Given the description of an element on the screen output the (x, y) to click on. 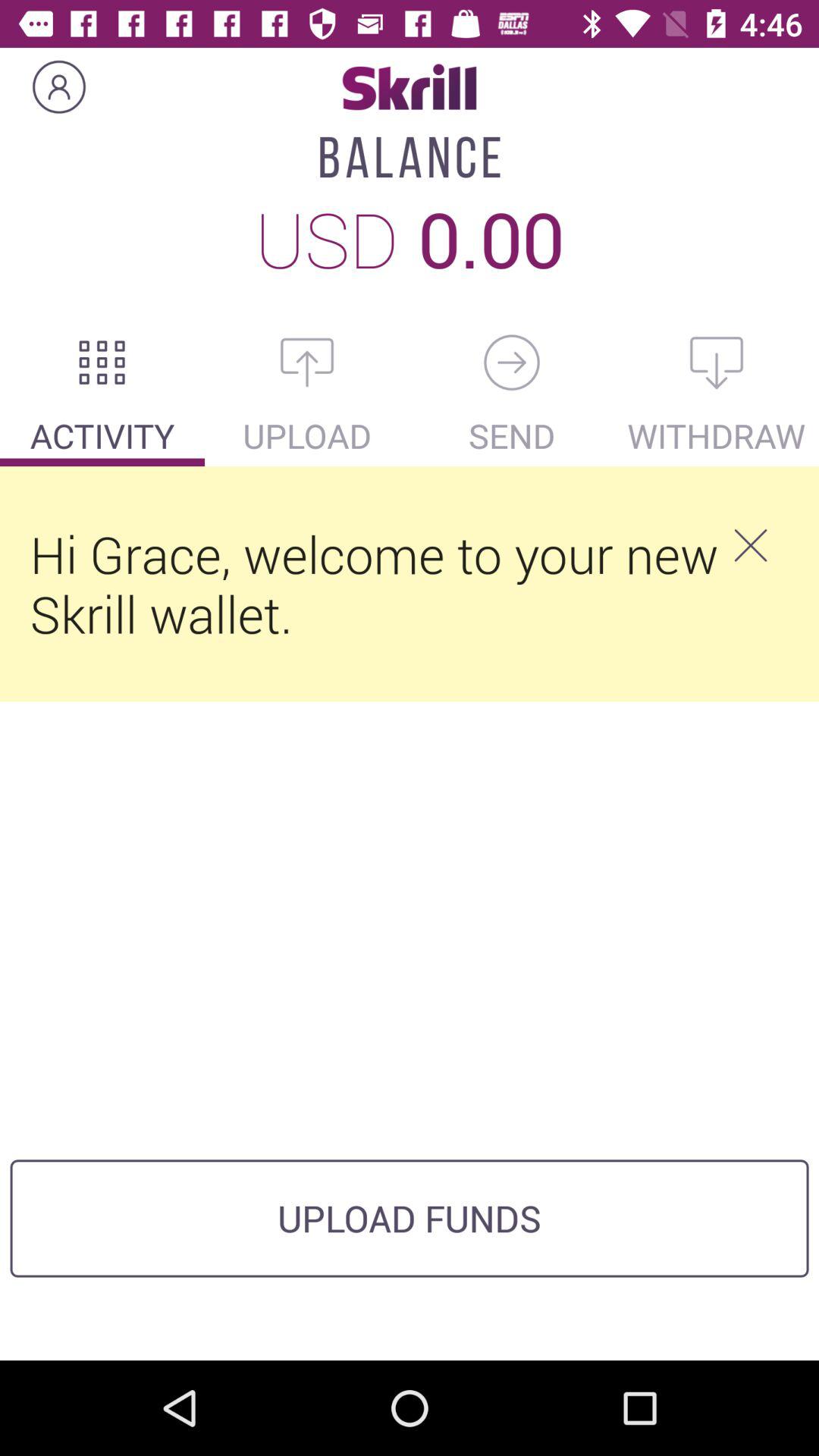
click to upload (306, 362)
